Given the description of an element on the screen output the (x, y) to click on. 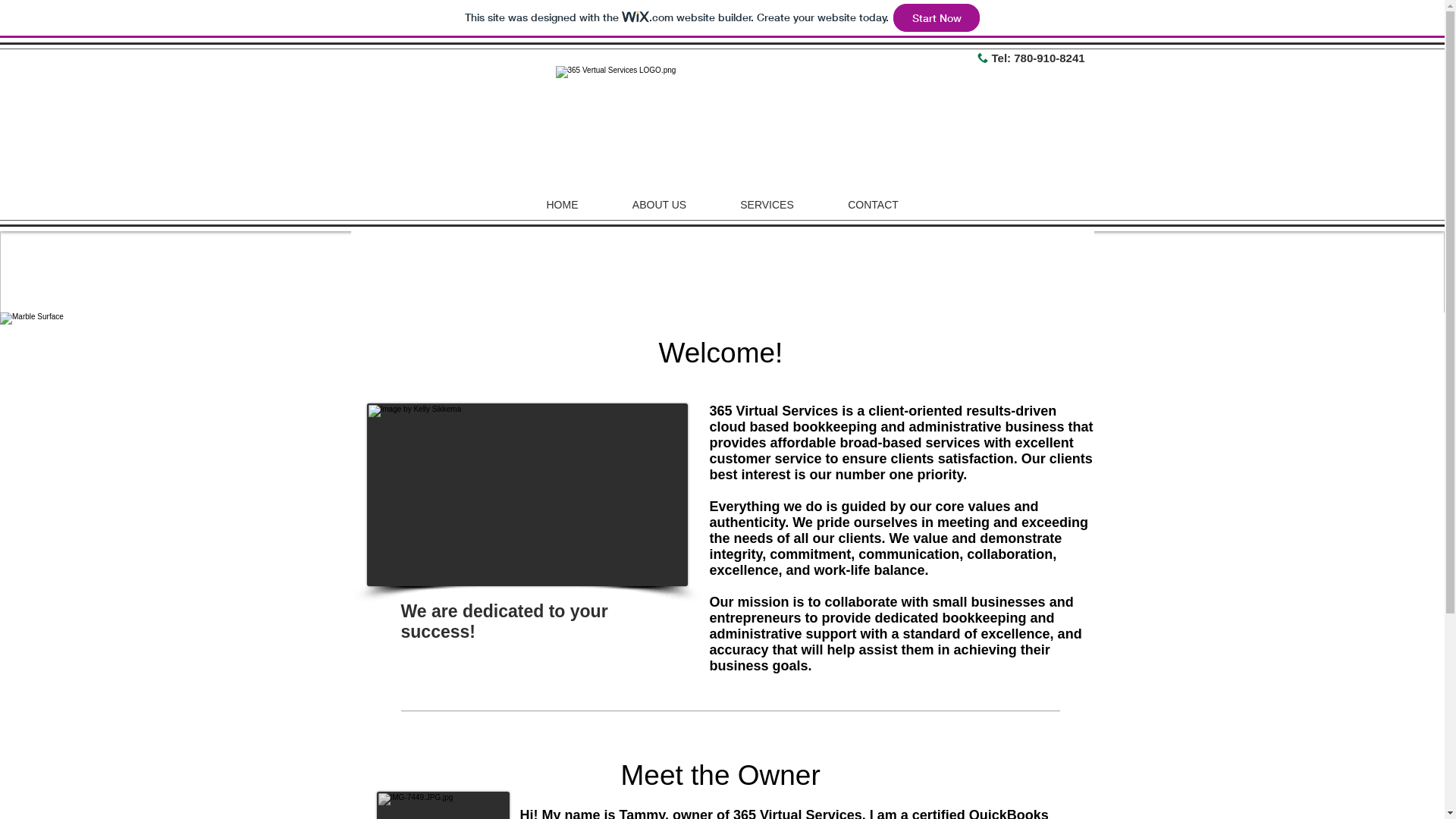
SERVICES Element type: text (766, 205)
ABOUT US Element type: text (658, 205)
HOME Element type: text (561, 205)
CONTACT Element type: text (872, 205)
